Given the description of an element on the screen output the (x, y) to click on. 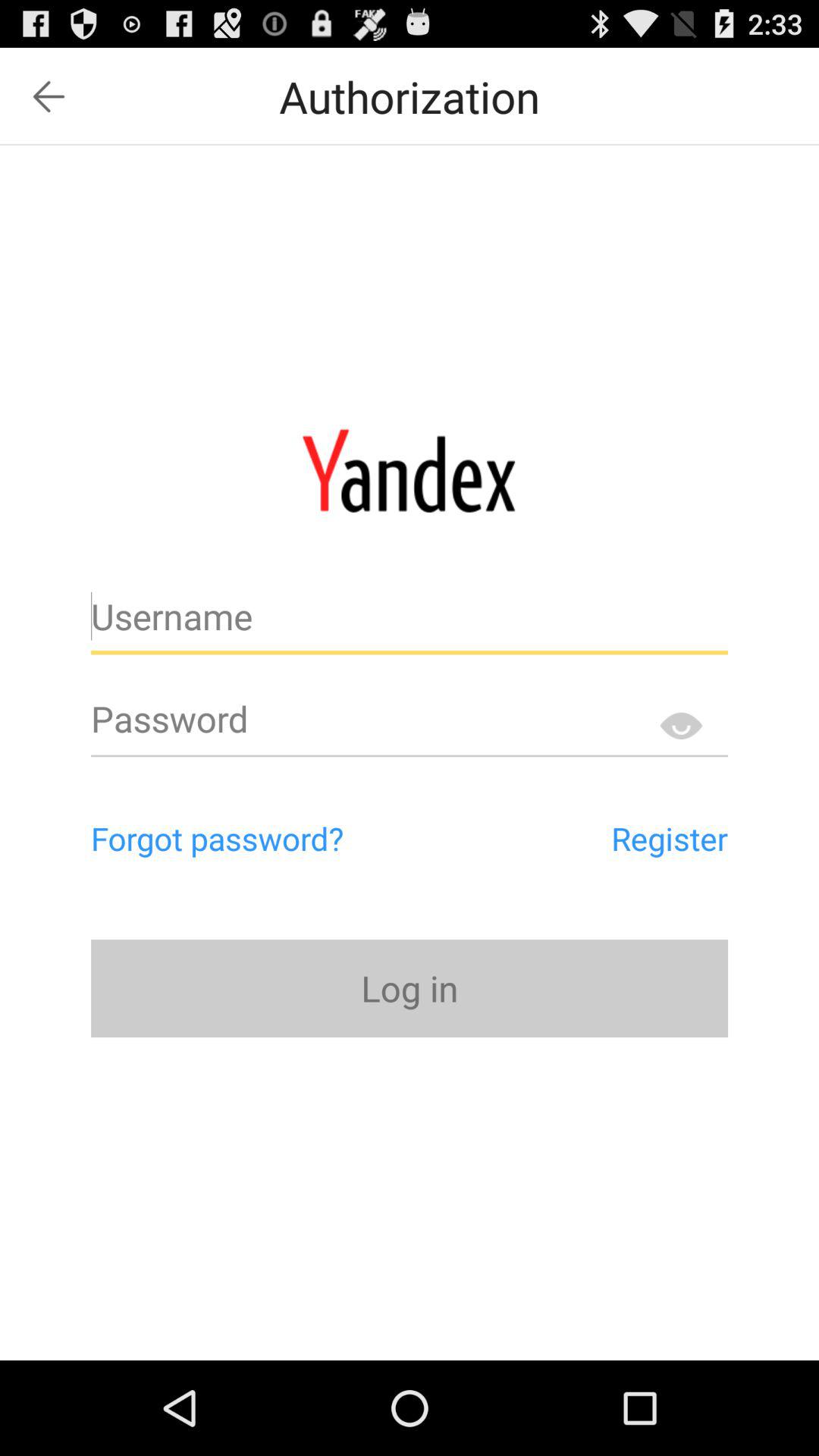
swipe until the log in icon (409, 988)
